Given the description of an element on the screen output the (x, y) to click on. 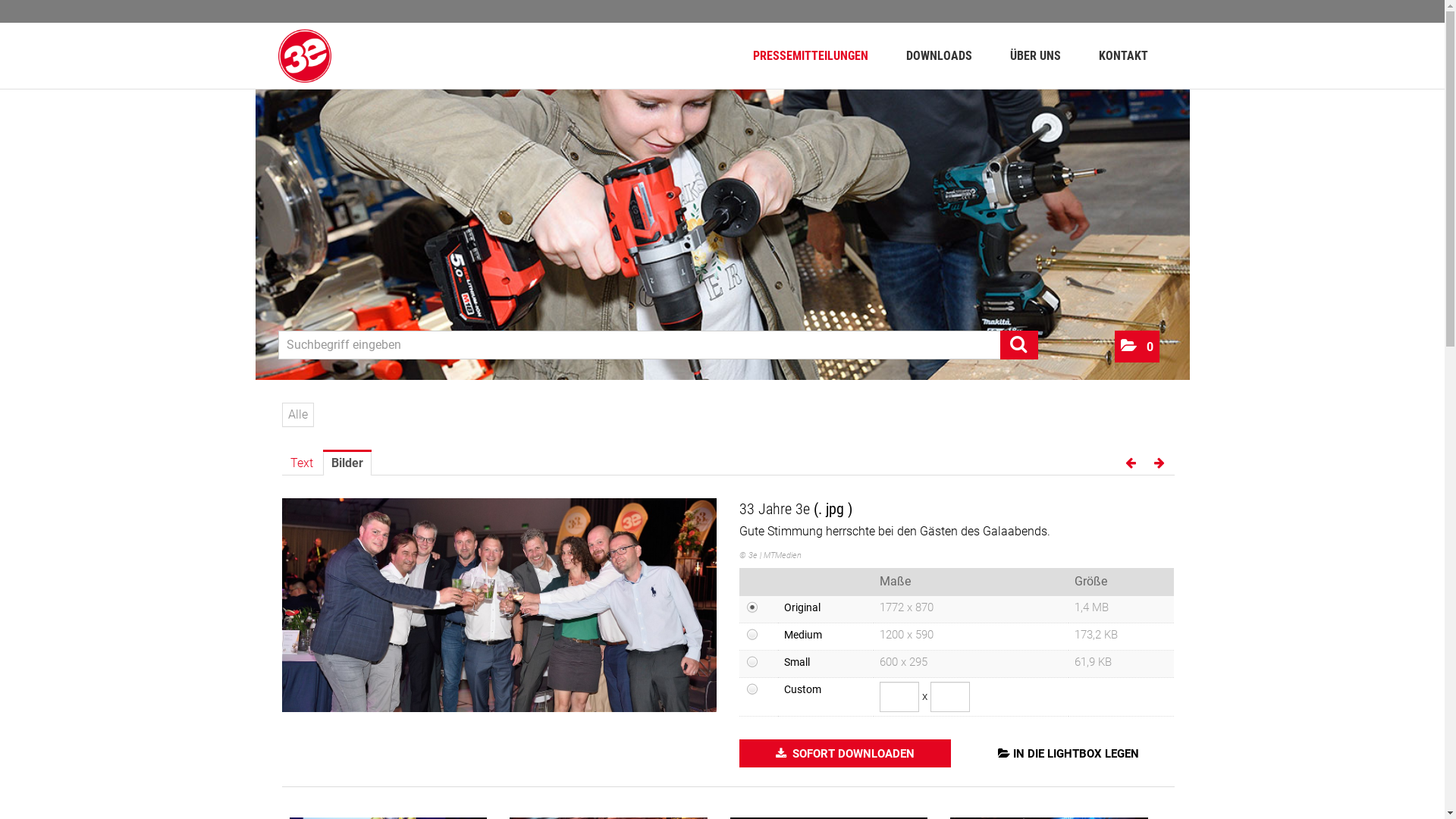
Text Element type: text (301, 463)
 0 Element type: text (1136, 346)
DOWNLOADS Element type: text (938, 55)
IN DIE LIGHTBOX LEGEN Element type: text (1067, 753)
PRESSEMITTEILUNGEN Element type: text (810, 55)
KONTAKT Element type: text (1123, 55)
Bilder Element type: text (347, 463)
SOFORT DOWNLOADEN Element type: text (844, 753)
Alle Element type: text (297, 414)
